Given the description of an element on the screen output the (x, y) to click on. 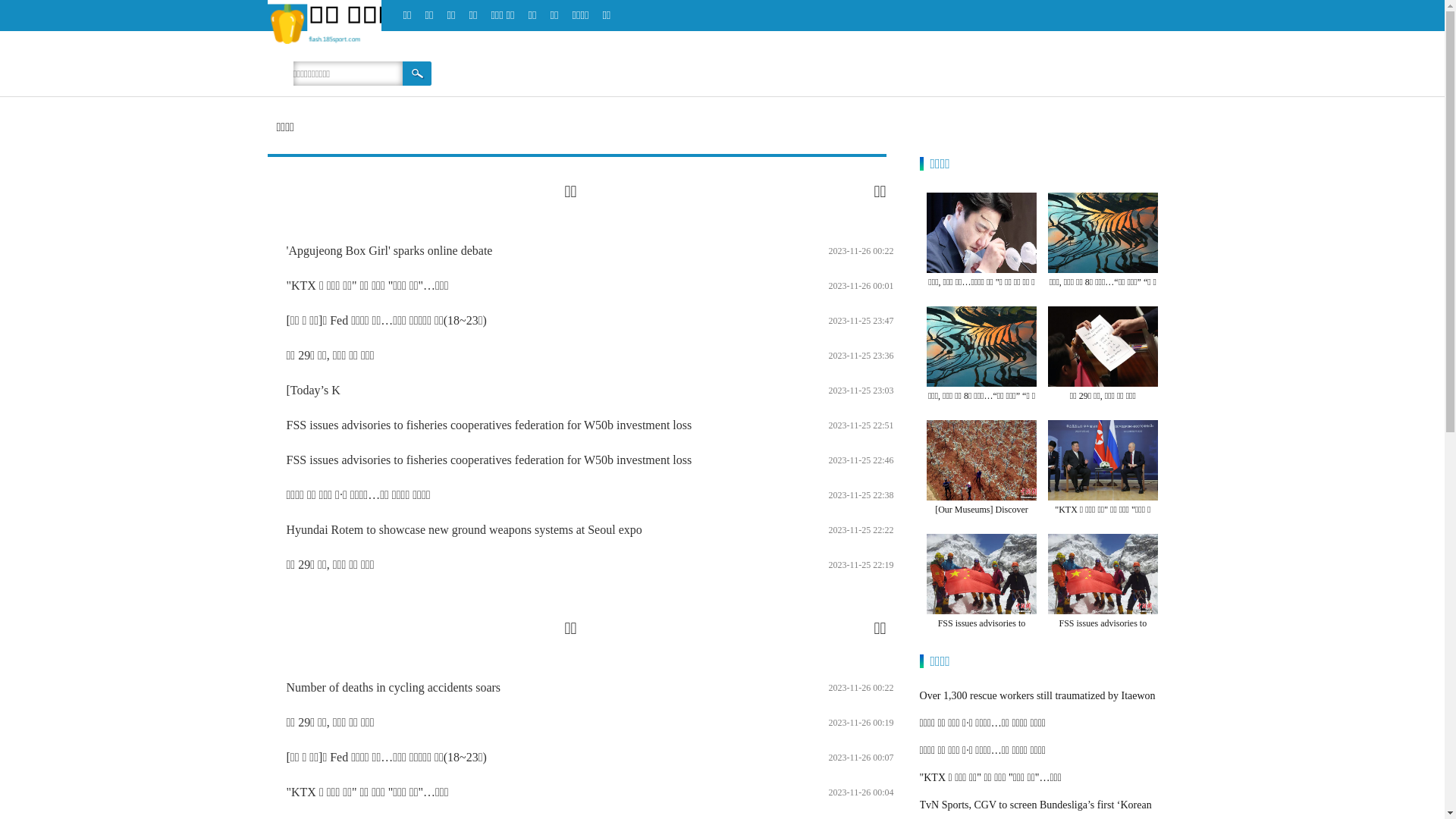
Number of deaths in cycling accidents soars Element type: text (393, 686)
'Apgujeong Box Girl' sparks online debate Element type: text (389, 250)
